Given the description of an element on the screen output the (x, y) to click on. 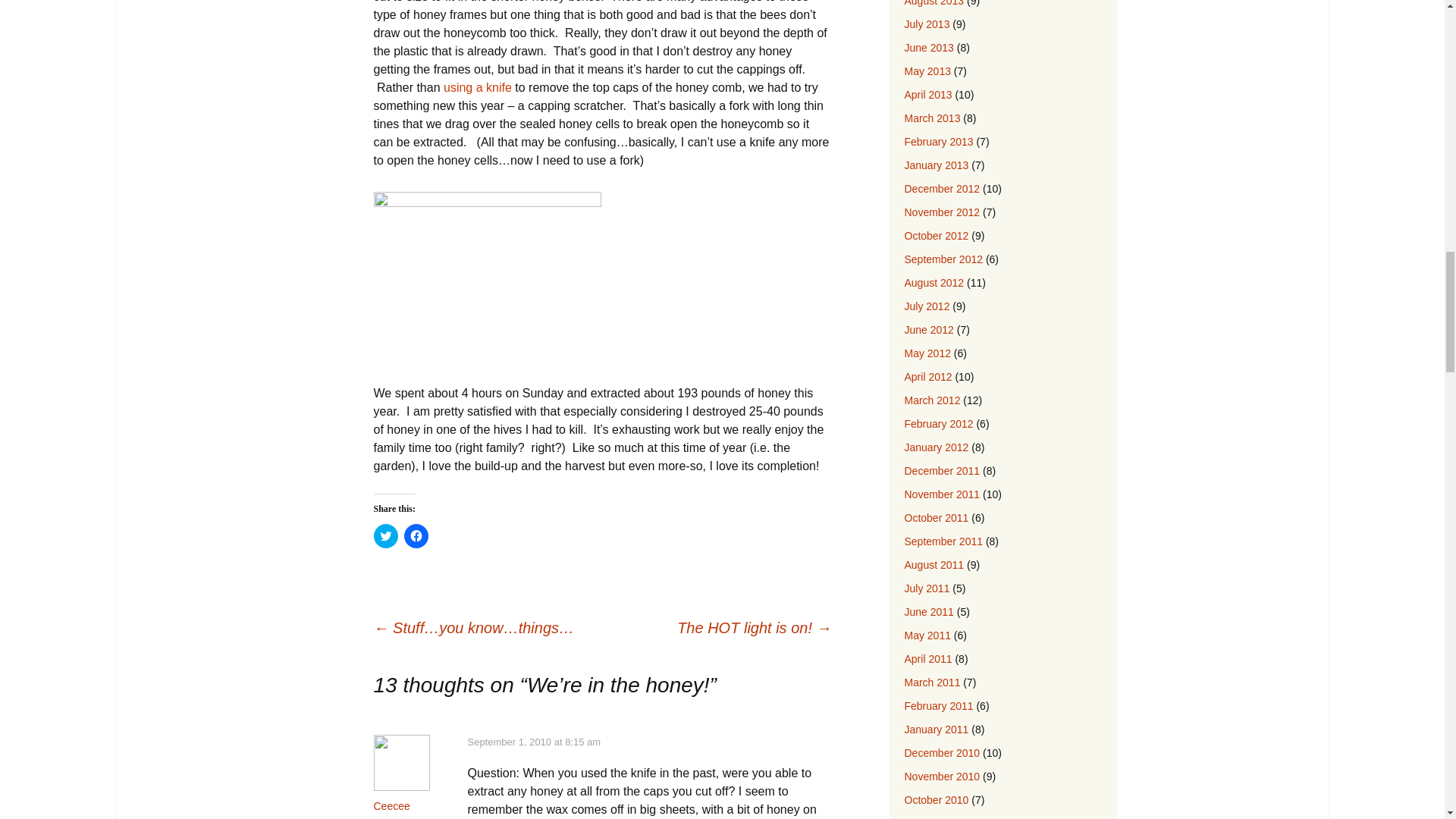
Click to share on Facebook (415, 535)
Click to share on Twitter (384, 535)
